Given the description of an element on the screen output the (x, y) to click on. 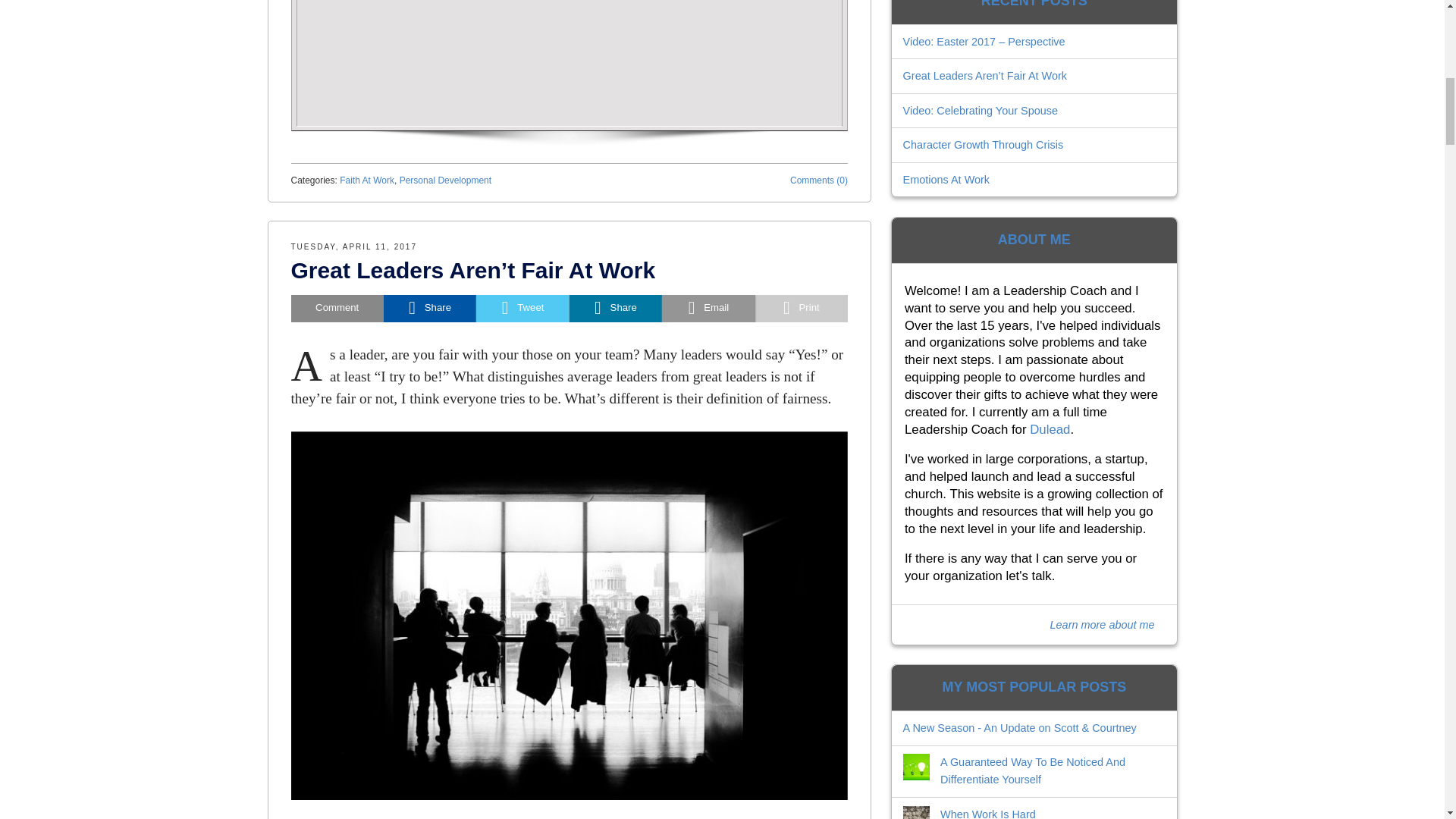
Share (430, 308)
Faith At Work (366, 180)
Share on LinkedIn (615, 308)
Email (708, 308)
Personal Development (445, 180)
Vimeo video player (570, 63)
Tweet this Post (522, 308)
Comment (337, 308)
Tweet (522, 308)
Print (801, 308)
